Given the description of an element on the screen output the (x, y) to click on. 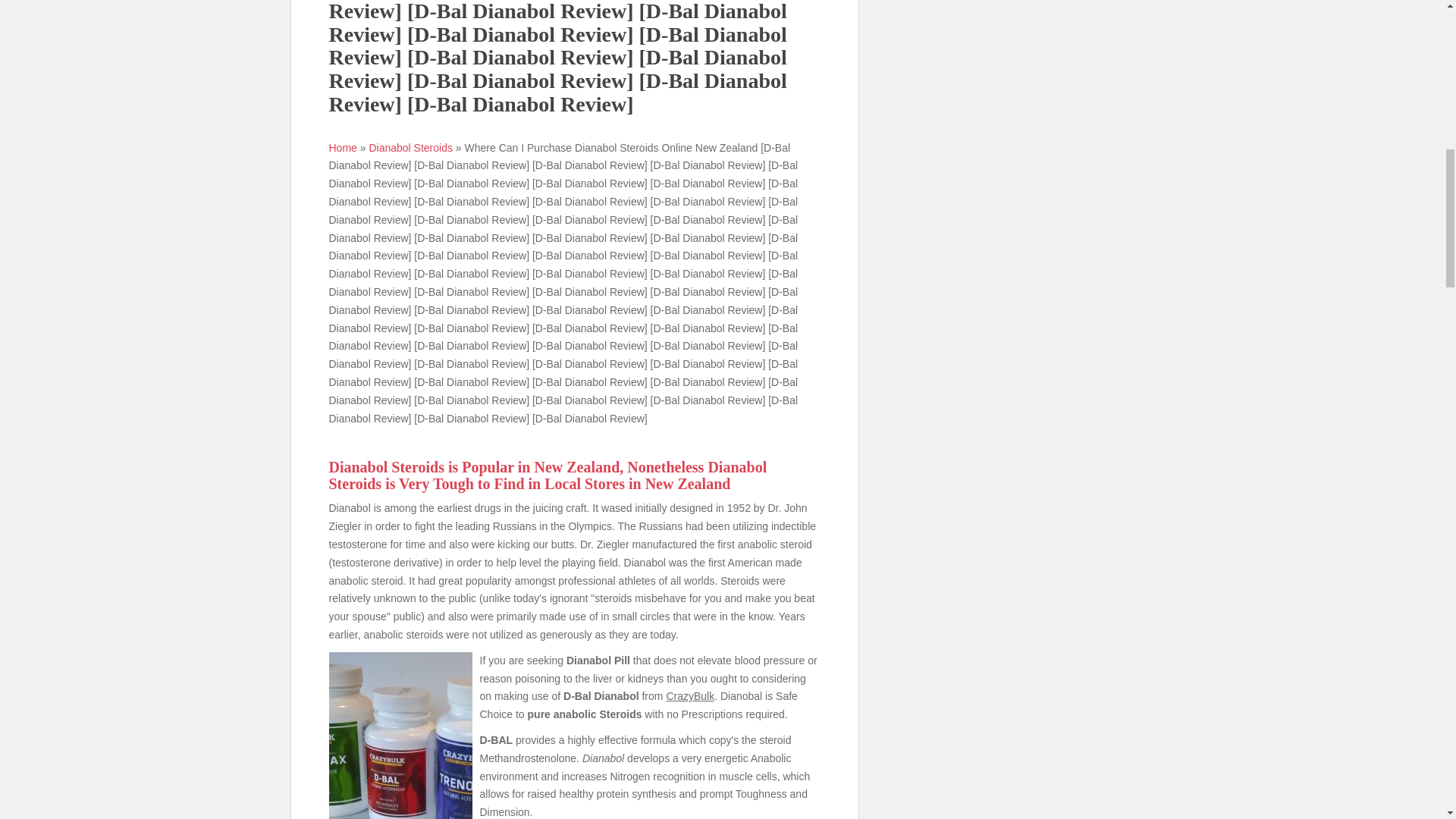
Home (342, 147)
Dianabol Steroids (410, 147)
Buy Dianabol Steroids Online  (410, 147)
